Given the description of an element on the screen output the (x, y) to click on. 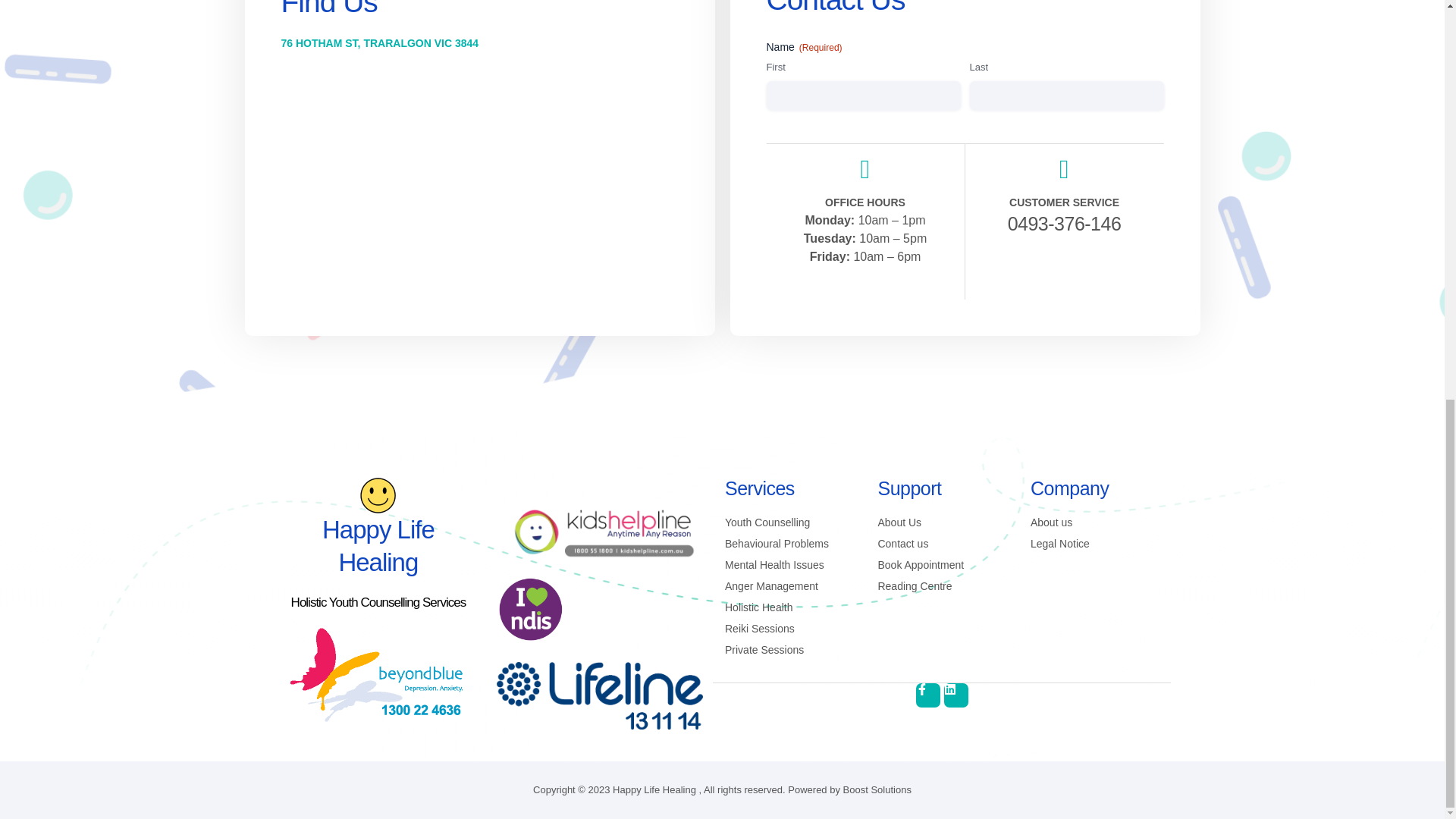
0493-376-146 (1036, 223)
Reading Centre (941, 586)
Book Appointment (941, 565)
Behavioural Problems (789, 544)
Contact us (941, 544)
Mental Health Issues (789, 565)
Holistic Health (789, 607)
76 Hotham St, Traralgon VIC 3844 (479, 181)
cropped-cropped-logo-clear.png (377, 495)
Reiki Sessions (789, 628)
About Us (941, 522)
Anger Management (789, 586)
Private Sessions (789, 650)
Youth Counselling (789, 522)
